Given the description of an element on the screen output the (x, y) to click on. 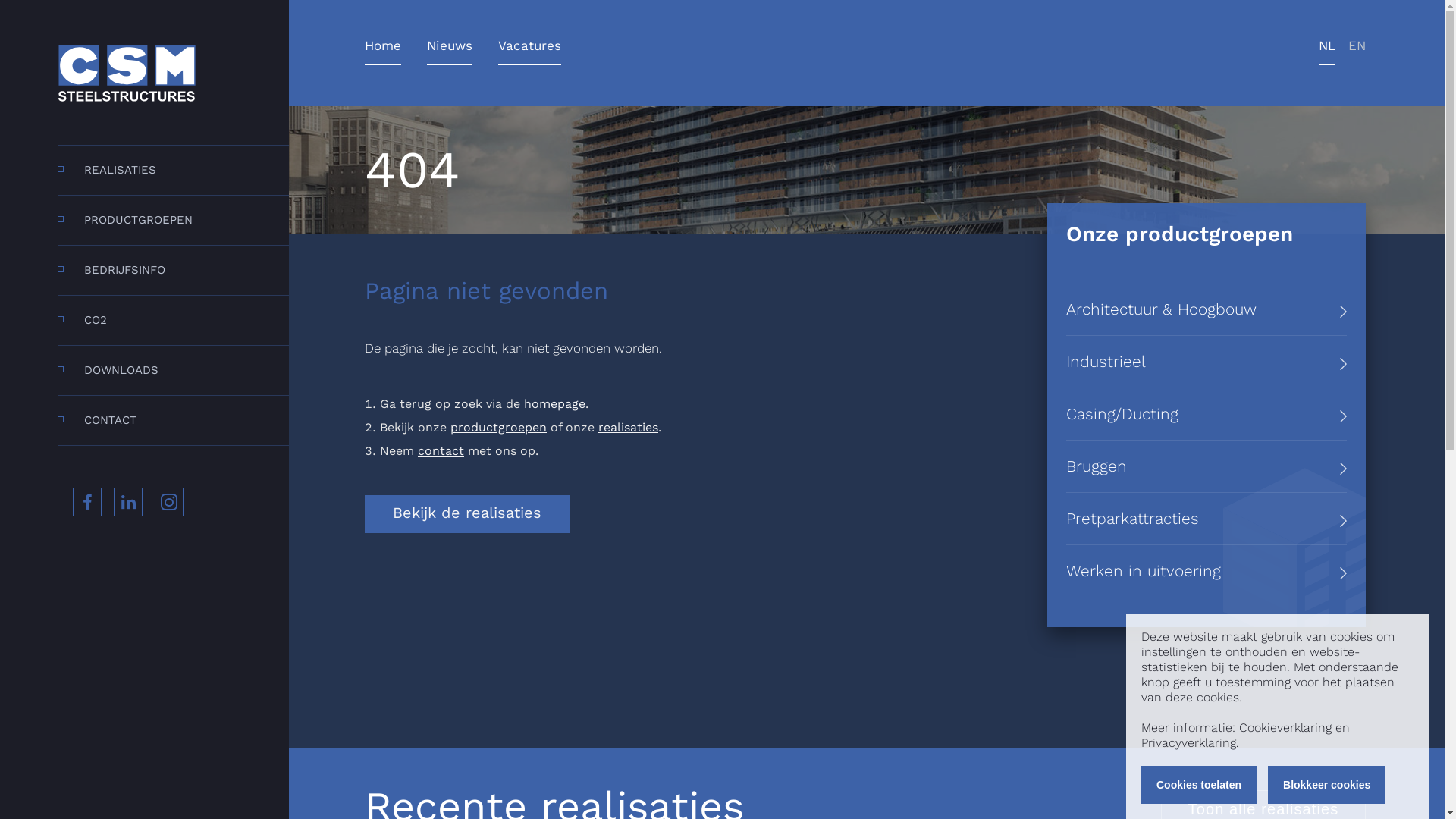
PRODUCTGROEPEN Element type: text (172, 219)
contact Element type: text (440, 450)
Home Element type: text (382, 52)
LinkedIn Element type: hover (140, 507)
Cookies toelaten Element type: text (1198, 784)
Pretparkattracties Element type: text (1206, 518)
NL Element type: text (1326, 52)
CONTACT Element type: text (172, 420)
realisaties Element type: text (628, 427)
Privacyverklaring Element type: text (1188, 742)
Instagram Element type: hover (181, 507)
REALISATIES Element type: text (172, 169)
Bekijk de realisaties Element type: text (466, 514)
Casing/Ducting Element type: text (1206, 413)
Werken in uitvoering Element type: text (1206, 570)
Bruggen Element type: text (1206, 466)
BEDRIJFSINFO Element type: text (172, 269)
Nieuws Element type: text (449, 52)
homepage Element type: text (554, 403)
EN Element type: text (1356, 51)
Blokkeer cookies Element type: text (1326, 784)
Vacatures Element type: text (529, 52)
productgroepen Element type: text (498, 427)
Facebook Element type: hover (99, 507)
Architectuur & Hoogbouw Element type: text (1206, 309)
Industrieel Element type: text (1206, 361)
CO2 Element type: text (172, 320)
Bekijk de realisaties Element type: text (466, 513)
Cookieverklaring Element type: text (1285, 727)
DOWNLOADS Element type: text (172, 370)
